Given the description of an element on the screen output the (x, y) to click on. 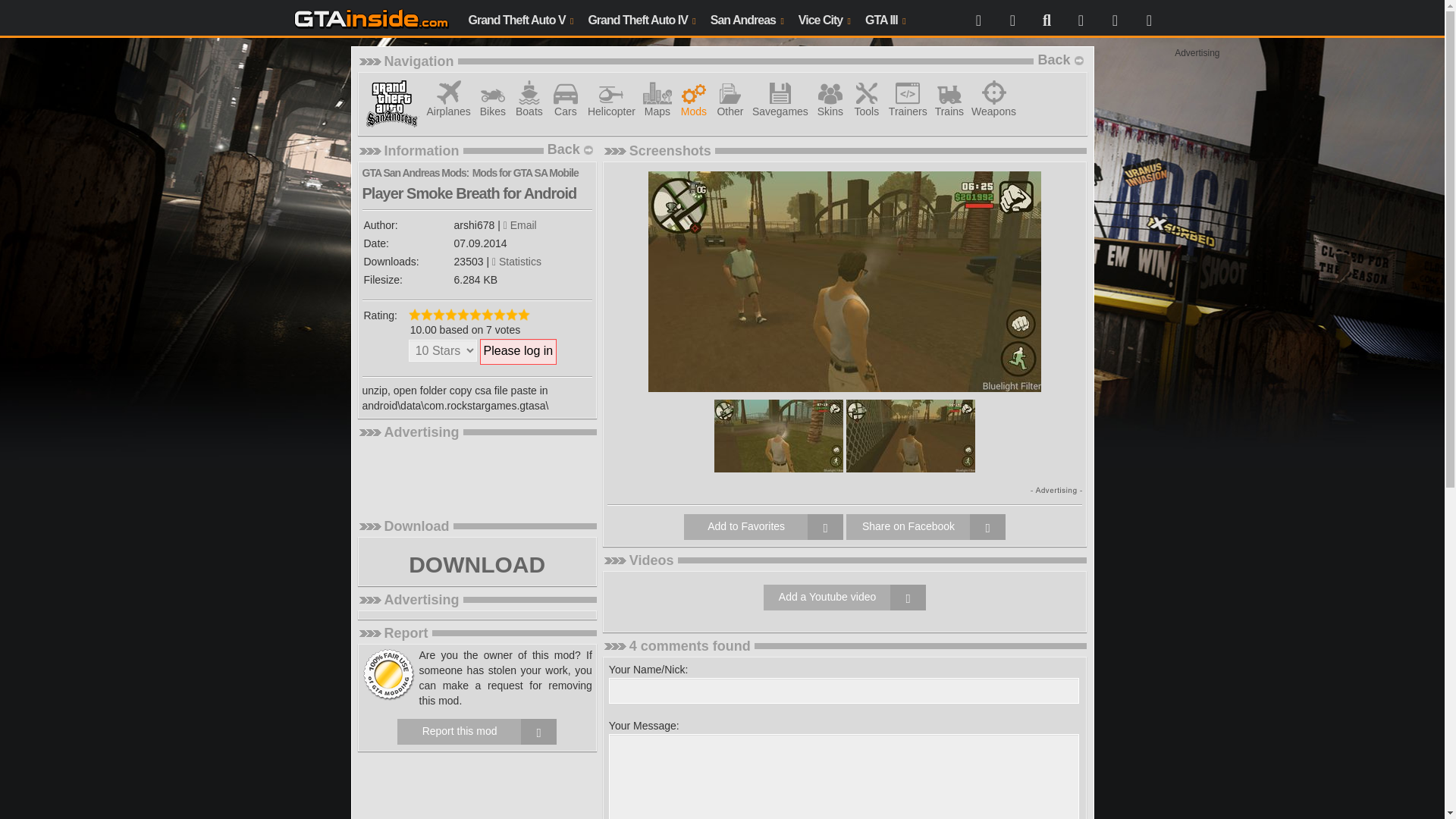
Player Smoke Breath for Android (910, 435)
Player Smoke Breath for Android (778, 435)
Menu (977, 18)
Your Profile (1011, 18)
Search (1046, 18)
Messages (1114, 18)
Add this mod to your GTAinside Favorites (763, 526)
Share on Facebook (925, 526)
Upload your mod (1079, 18)
Player Smoke Breath for Android (844, 280)
